Given the description of an element on the screen output the (x, y) to click on. 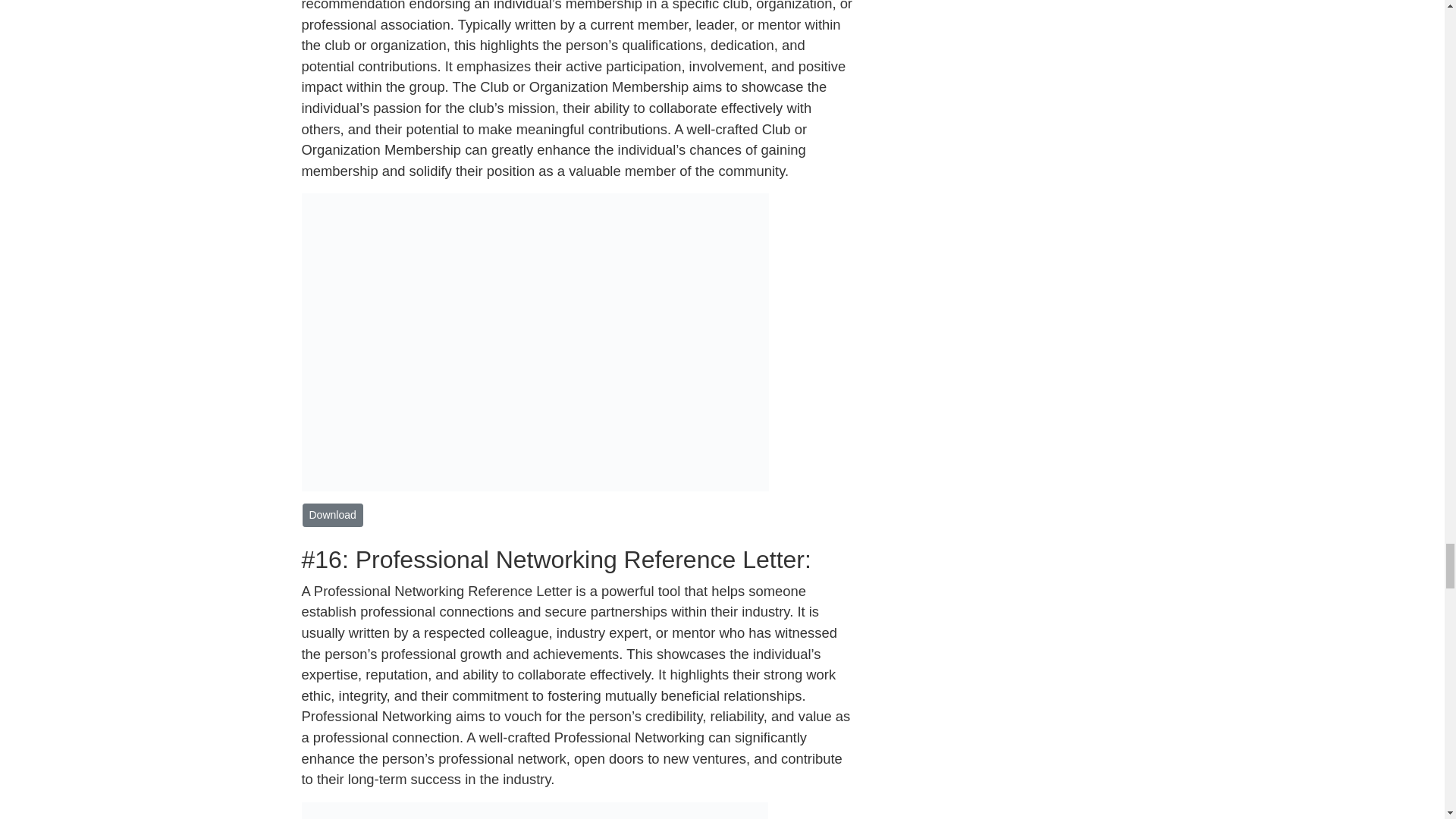
Download (331, 515)
